Given the description of an element on the screen output the (x, y) to click on. 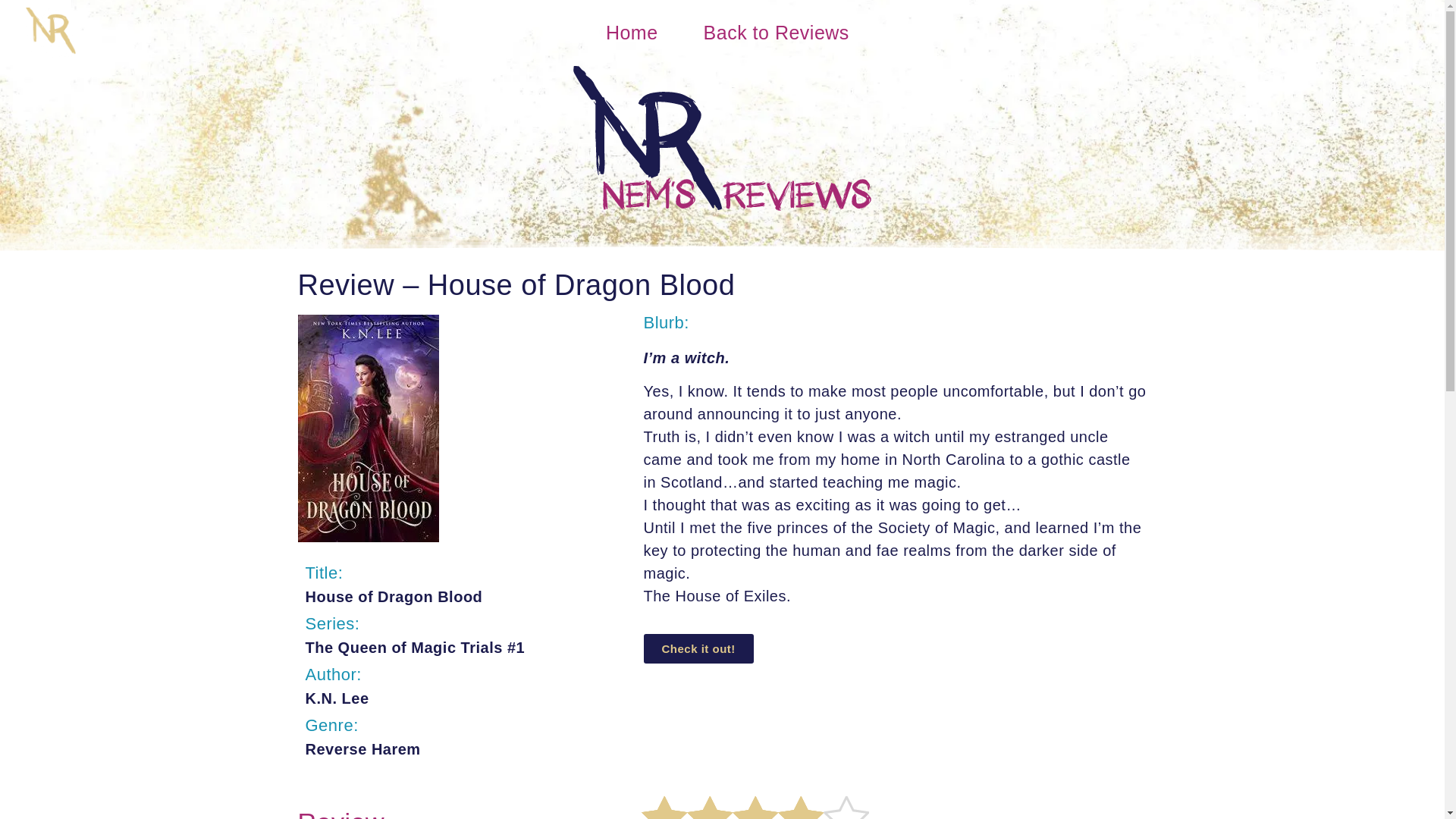
Check it out! (697, 648)
Home (631, 32)
Back to Reviews (776, 32)
